Given the description of an element on the screen output the (x, y) to click on. 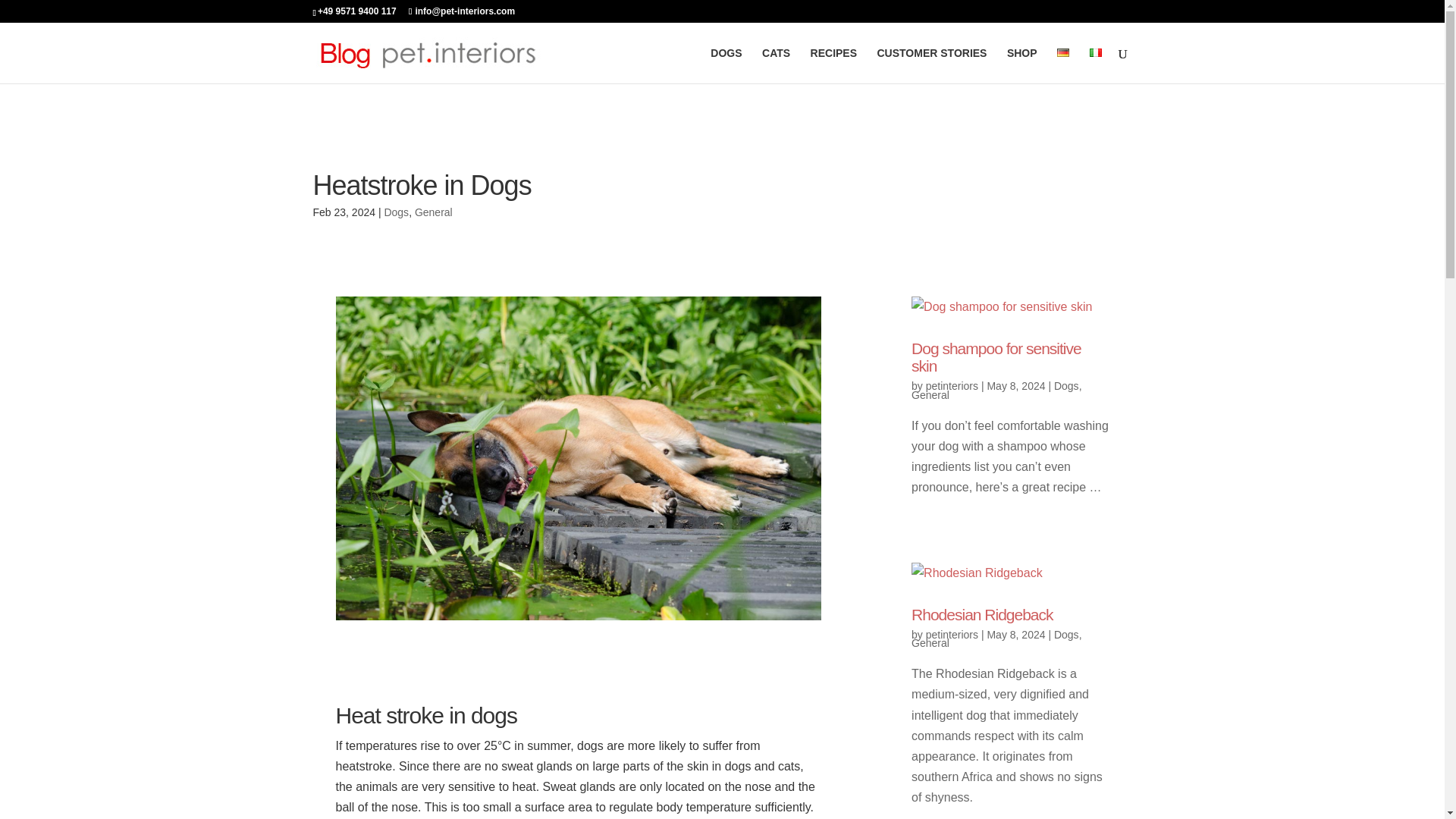
General (930, 643)
Posts by petinteriors (952, 386)
Rhodesian Ridgeback (981, 614)
Posts by petinteriors (952, 634)
General (930, 395)
CUSTOMER STORIES (931, 65)
General (433, 212)
RECIPES (833, 65)
Dog shampoo for sensitive skin (996, 356)
petinteriors (952, 386)
Dogs (1066, 386)
Dogs (396, 212)
Dogs (1066, 634)
petinteriors (952, 634)
